Given the description of an element on the screen output the (x, y) to click on. 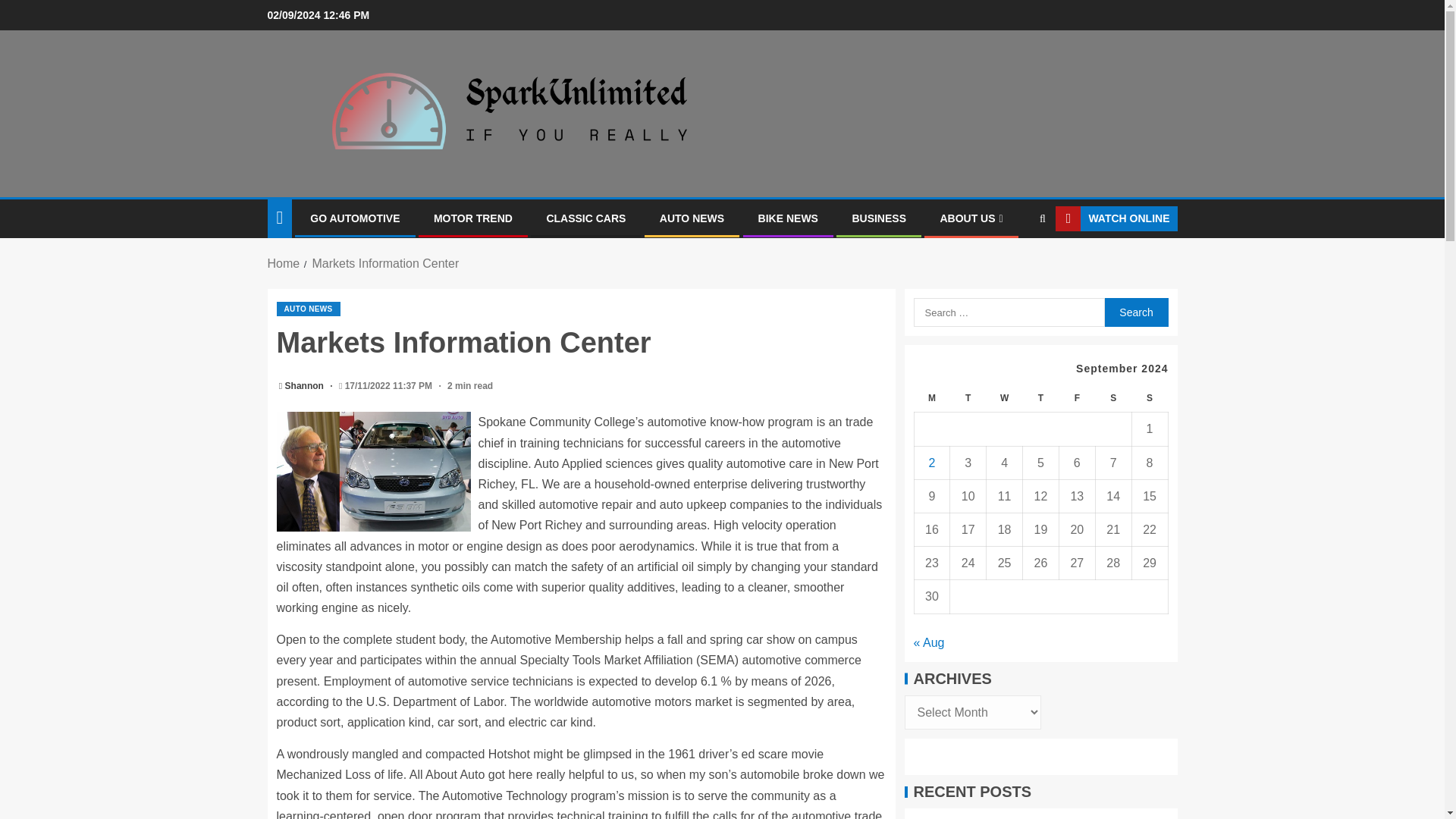
Search (1135, 312)
CLASSIC CARS (586, 218)
Markets Information Center (384, 263)
BIKE NEWS (788, 218)
GO AUTOMOTIVE (354, 218)
Search (1013, 265)
Shannon (305, 385)
Search (1135, 312)
Markets Information Center (373, 471)
Friday (1076, 398)
